Given the description of an element on the screen output the (x, y) to click on. 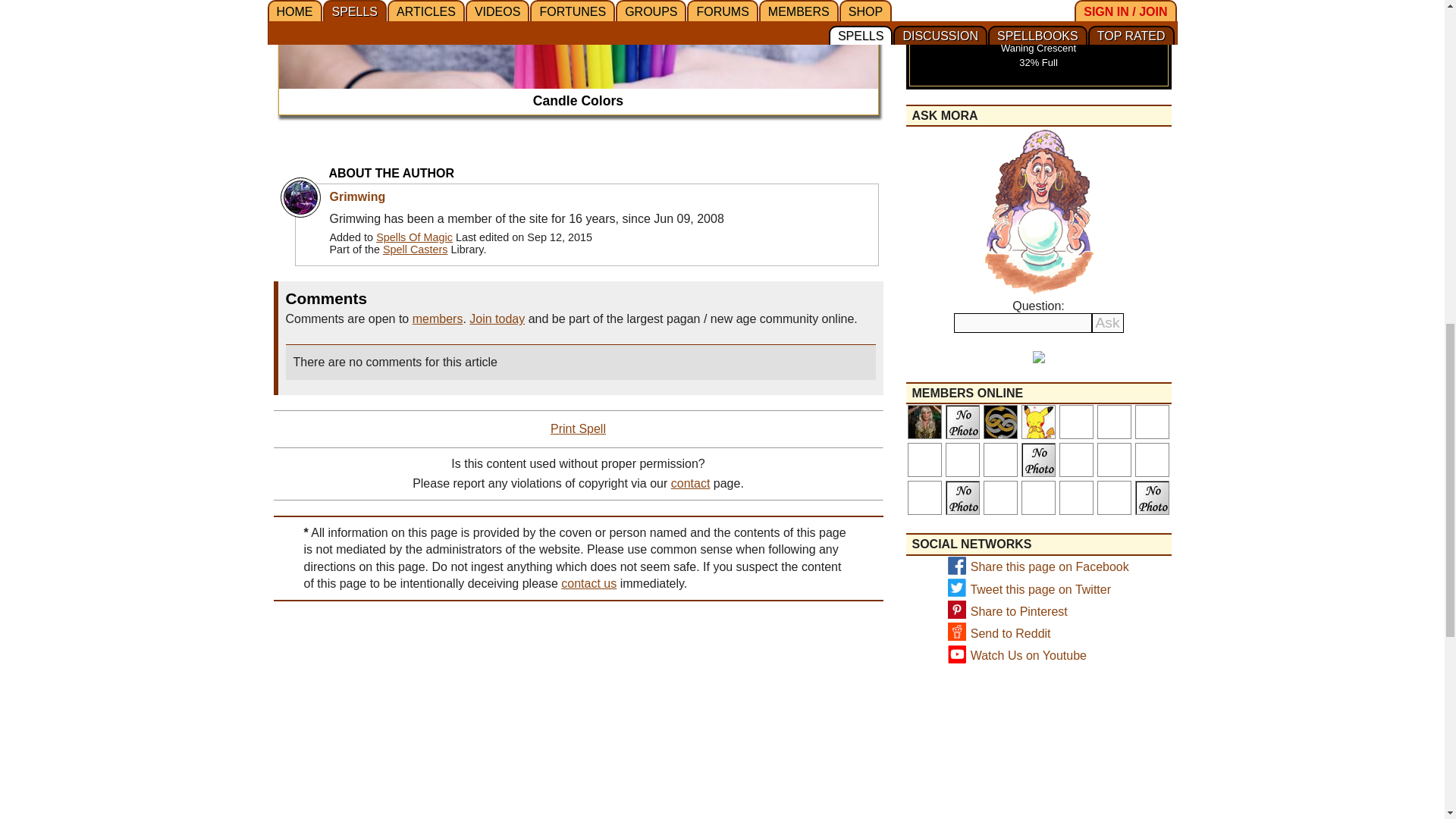
Ask (1108, 322)
